Given the description of an element on the screen output the (x, y) to click on. 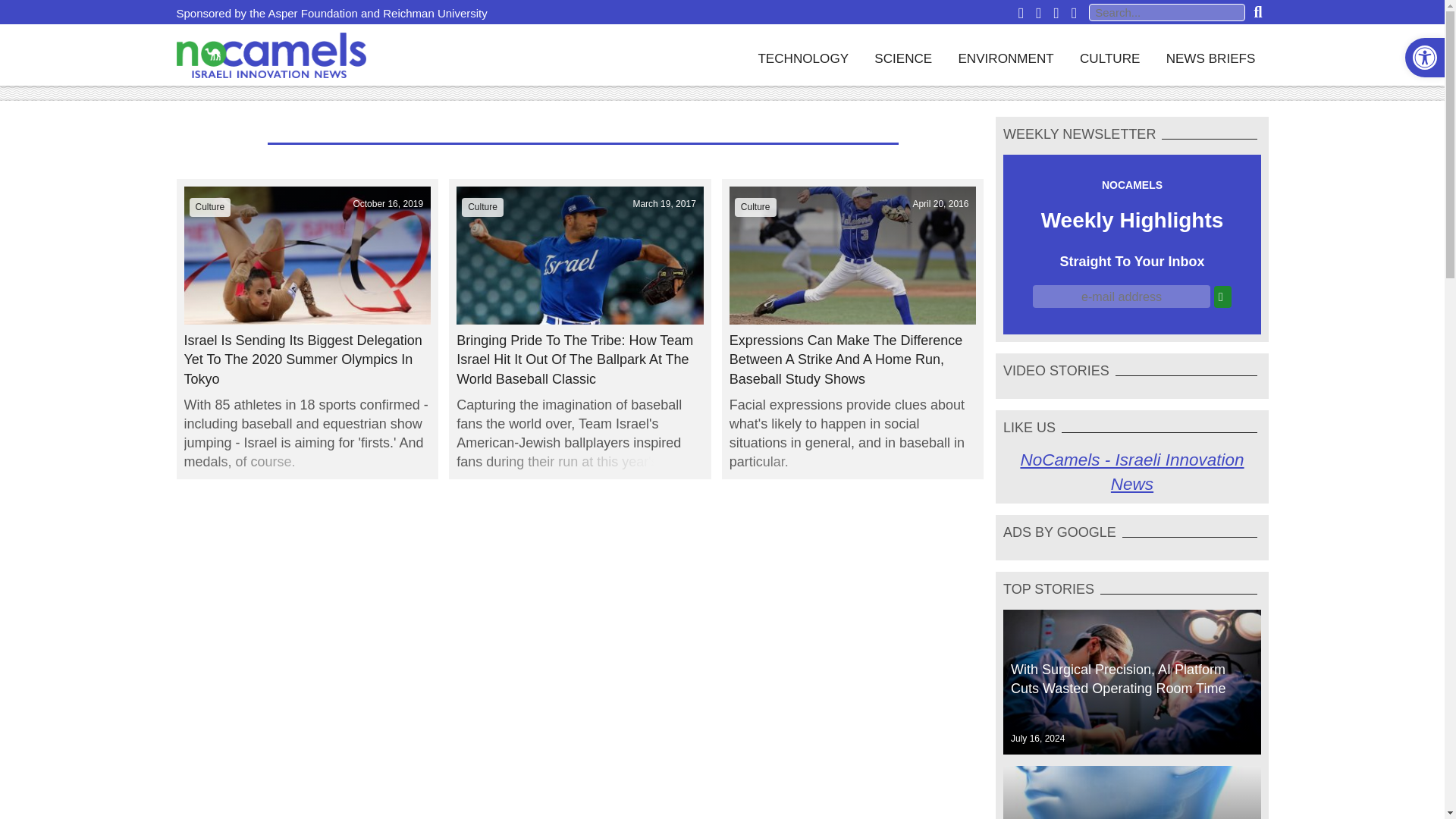
Reichman University (434, 11)
TECHNOLOGY (802, 55)
NEWS BRIEFS (1210, 55)
the Asper Foundation (303, 11)
CULTURE (1110, 55)
Culture (210, 206)
ENVIRONMENT (1005, 55)
NoCamels - Israeli Innovation News (1131, 471)
Accessibility Tools (1424, 57)
Culture (755, 206)
Culture (482, 206)
